Given the description of an element on the screen output the (x, y) to click on. 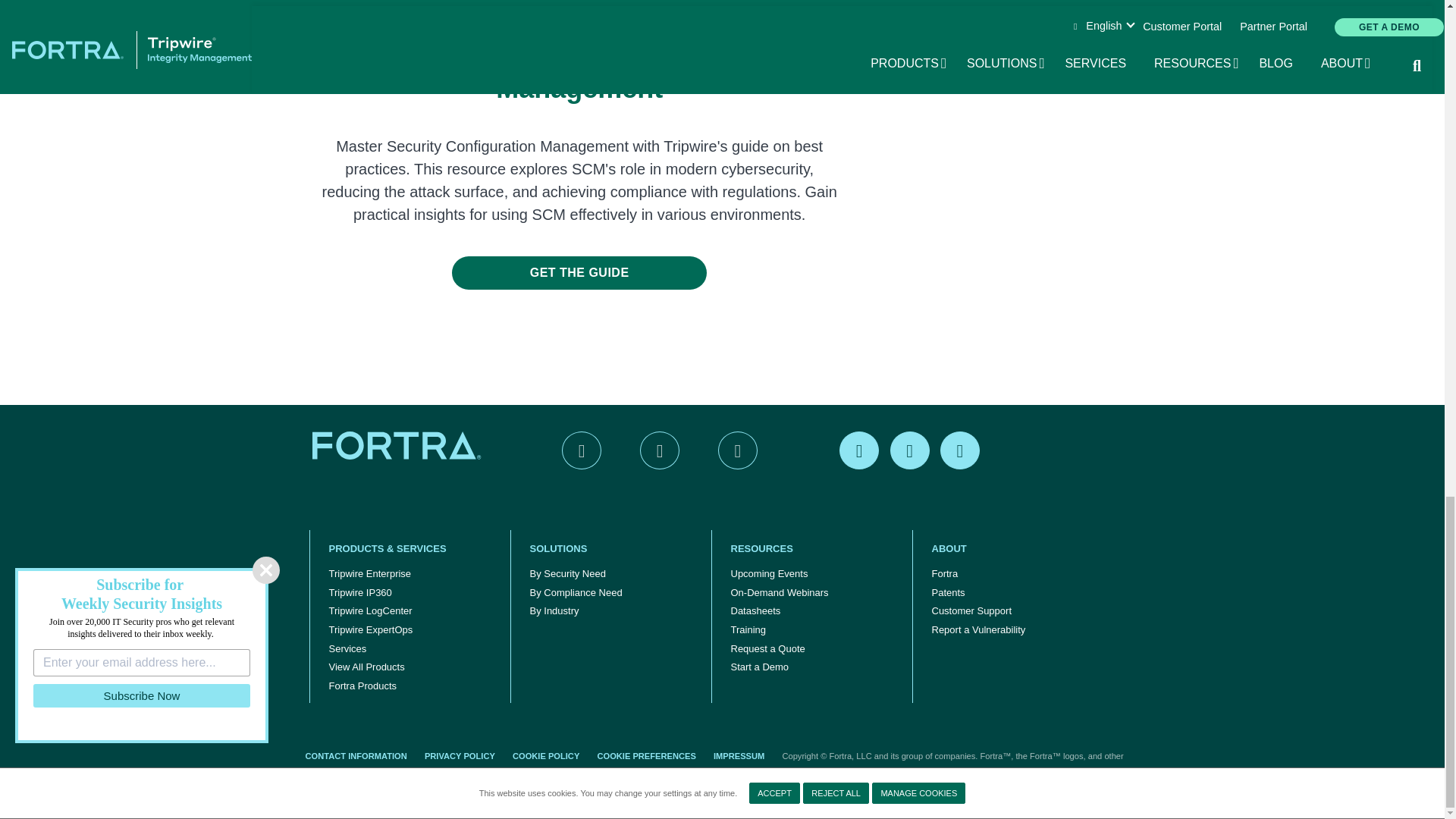
Home (398, 444)
